Given the description of an element on the screen output the (x, y) to click on. 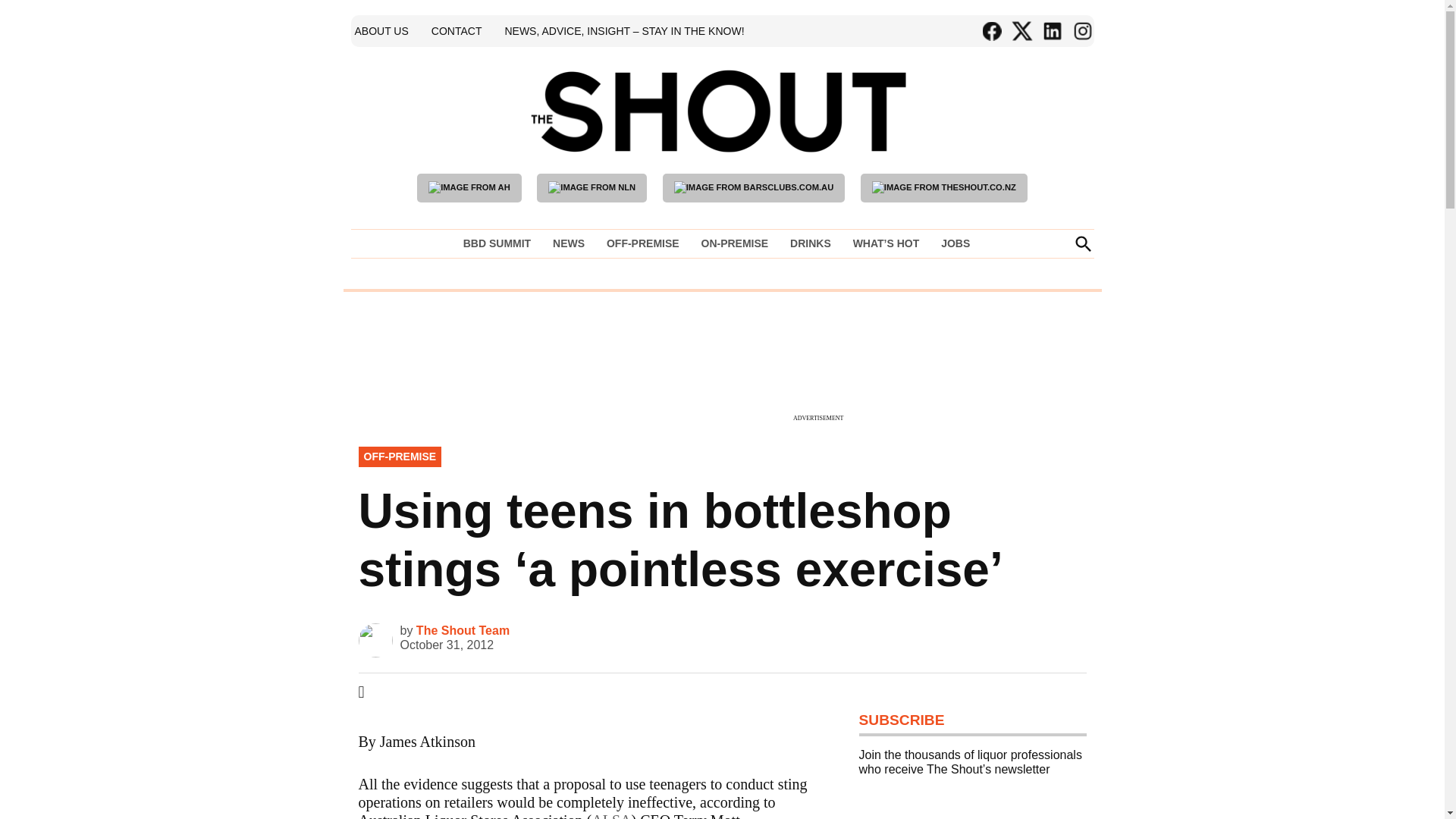
CONTACT (457, 30)
ON-PREMISE (734, 243)
Twitter (1021, 31)
ABOUT US (381, 30)
Facebook (991, 31)
Instagram (1081, 31)
NEWS (568, 243)
OFF-PREMISE (642, 243)
Linkedin (1051, 31)
The Shout (939, 133)
